Given the description of an element on the screen output the (x, y) to click on. 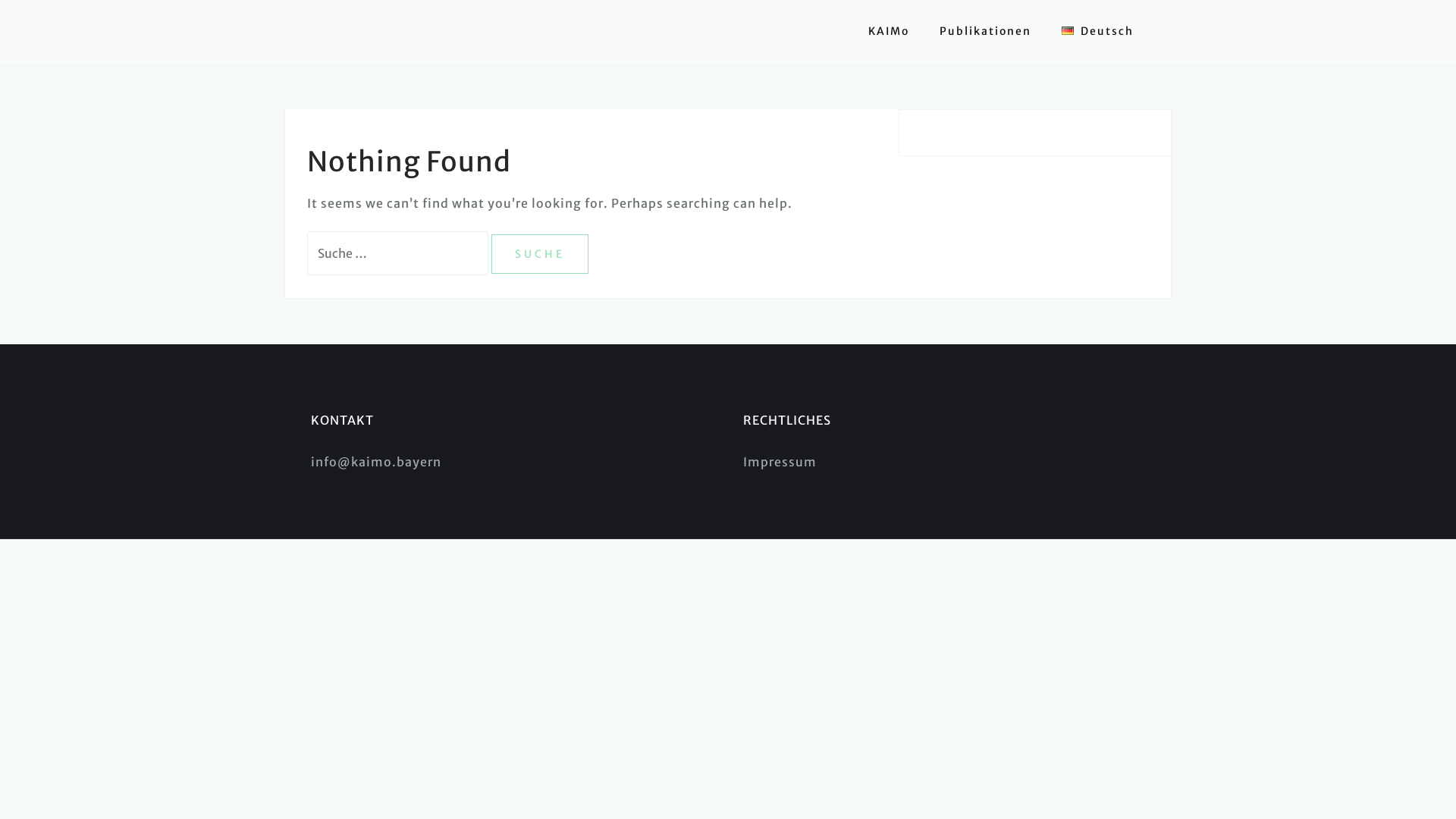
Deutsch Element type: text (1097, 30)
Suche Element type: text (539, 254)
Publikationen Element type: text (985, 30)
Impressum Element type: text (779, 461)
KAIMo Element type: text (888, 30)
info@kaimo.bayern Element type: text (375, 461)
